Given the description of an element on the screen output the (x, y) to click on. 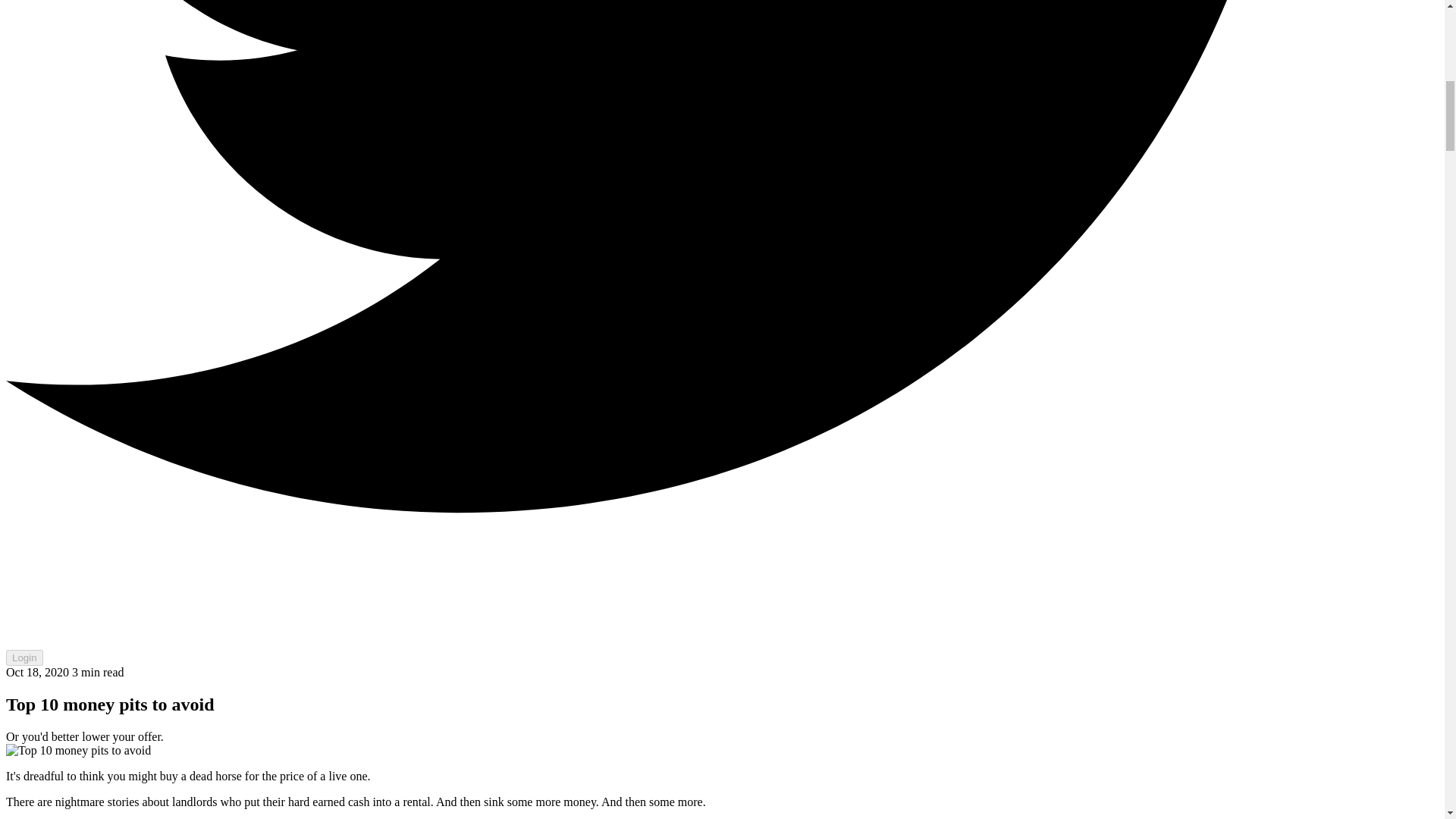
Login (24, 657)
